Given the description of an element on the screen output the (x, y) to click on. 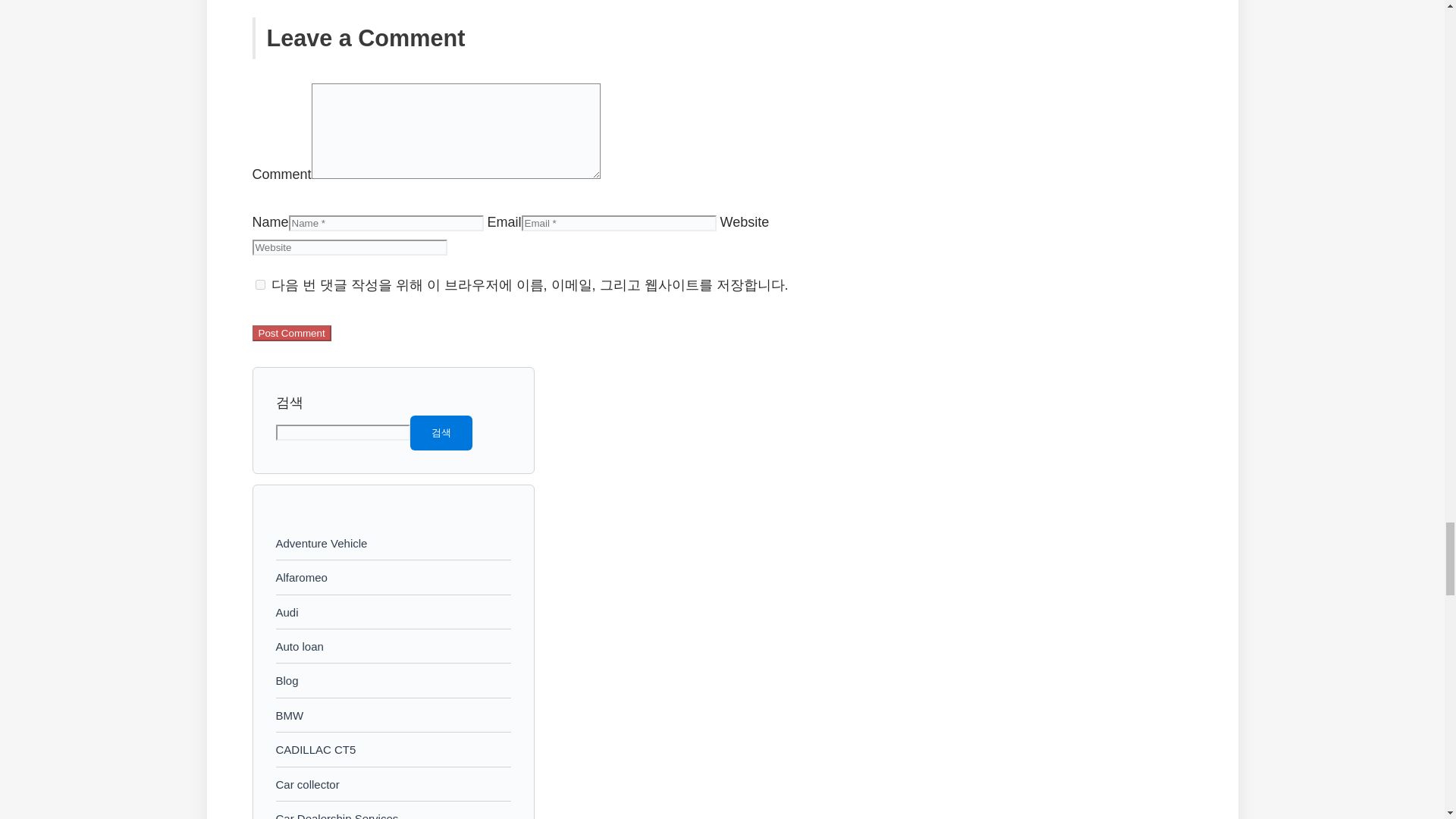
Post Comment (290, 333)
Post Comment (290, 333)
yes (259, 284)
